Given the description of an element on the screen output the (x, y) to click on. 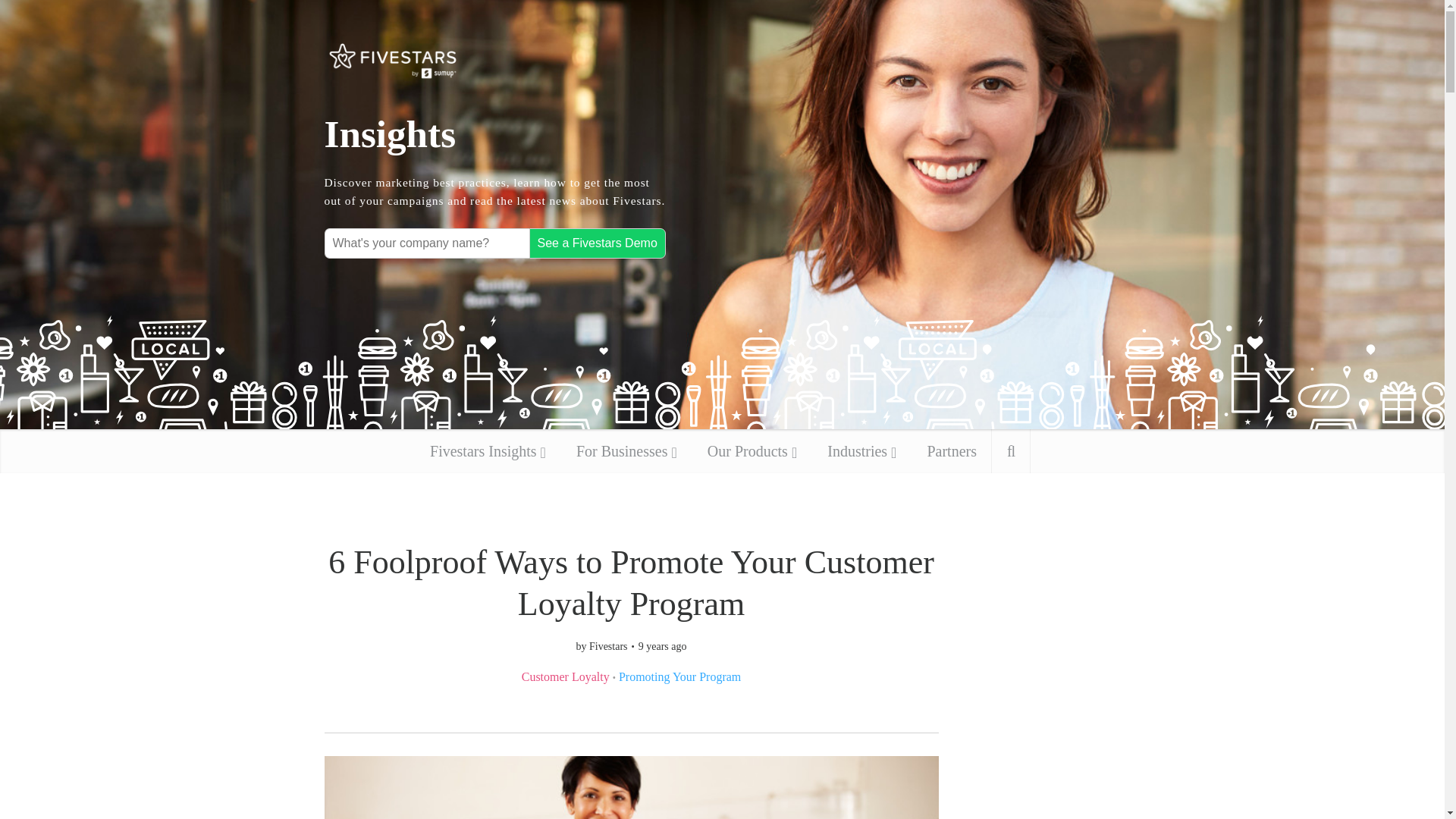
Promoting Your Program (679, 676)
Customer Loyalty (565, 676)
For Businesses (626, 451)
Our Products (752, 451)
Insights (494, 133)
See a Fivestars Demo (597, 243)
Fivestars Insights (392, 60)
Partners (951, 451)
Fivestars Insights (487, 451)
Fivestars (608, 646)
Industries (861, 451)
